Given the description of an element on the screen output the (x, y) to click on. 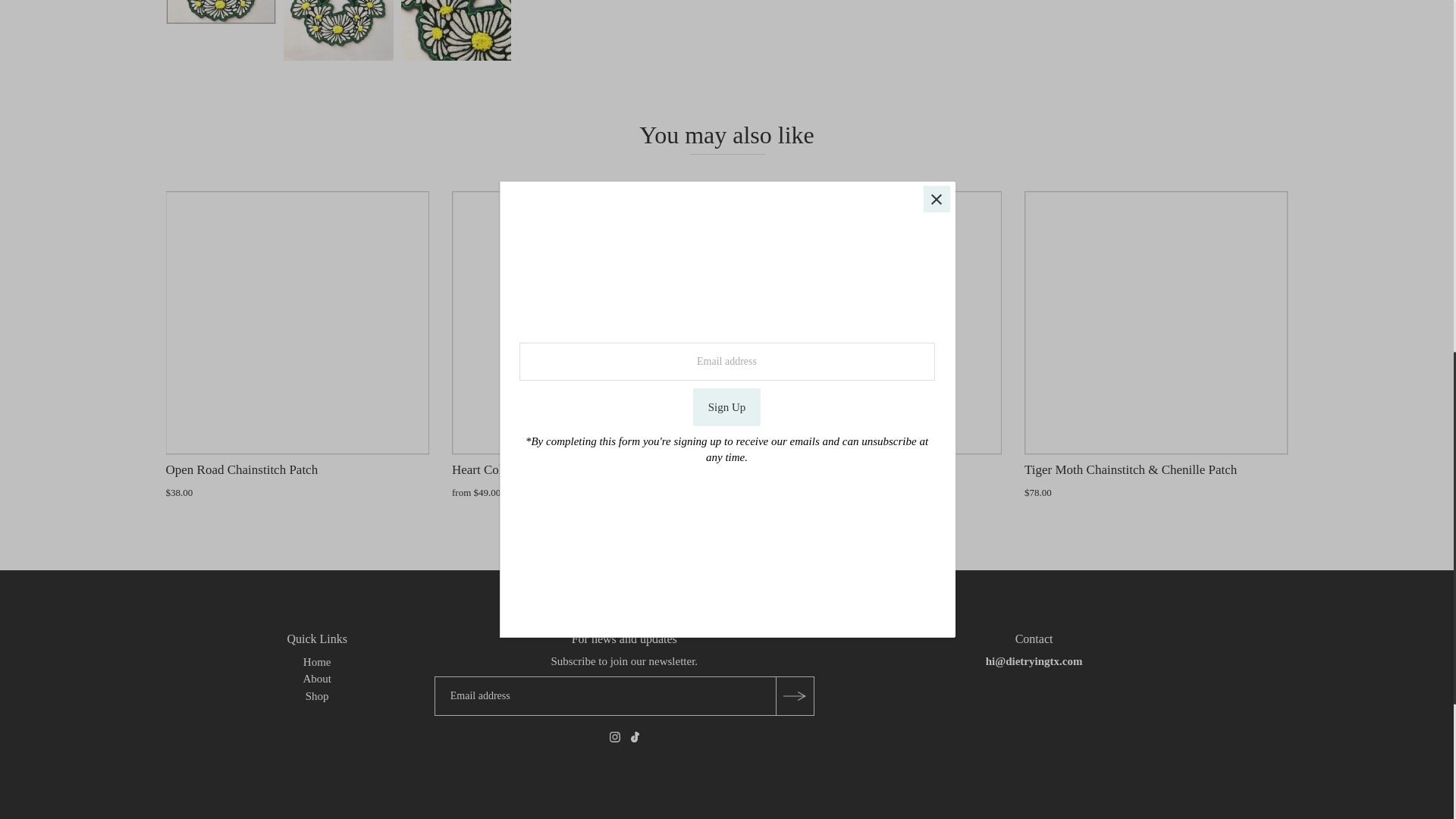
Heart Collection Patches (583, 322)
Tiktok (634, 738)
Open Road Chainstitch Patch (297, 322)
Desert Skull Patch (870, 322)
